Given the description of an element on the screen output the (x, y) to click on. 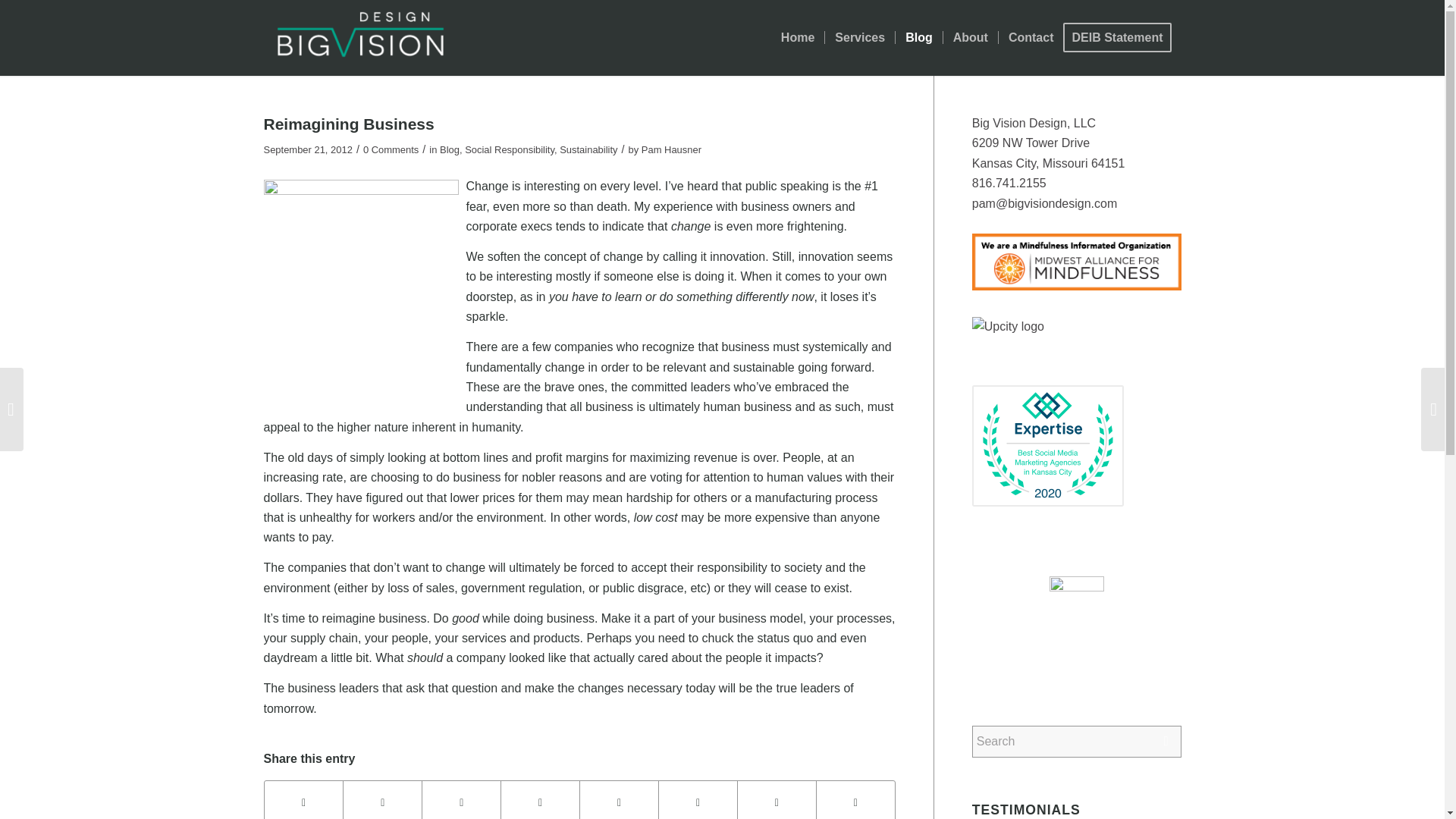
TESTIMONIALS (1026, 809)
Sustainability (588, 149)
Social Responsibility (509, 149)
Blog (449, 149)
DEIB Statement (1121, 38)
Click to start search (1165, 741)
Services (859, 38)
Pam Hausner (671, 149)
Posts by Pam Hausner (671, 149)
0 Comments (390, 149)
